Given the description of an element on the screen output the (x, y) to click on. 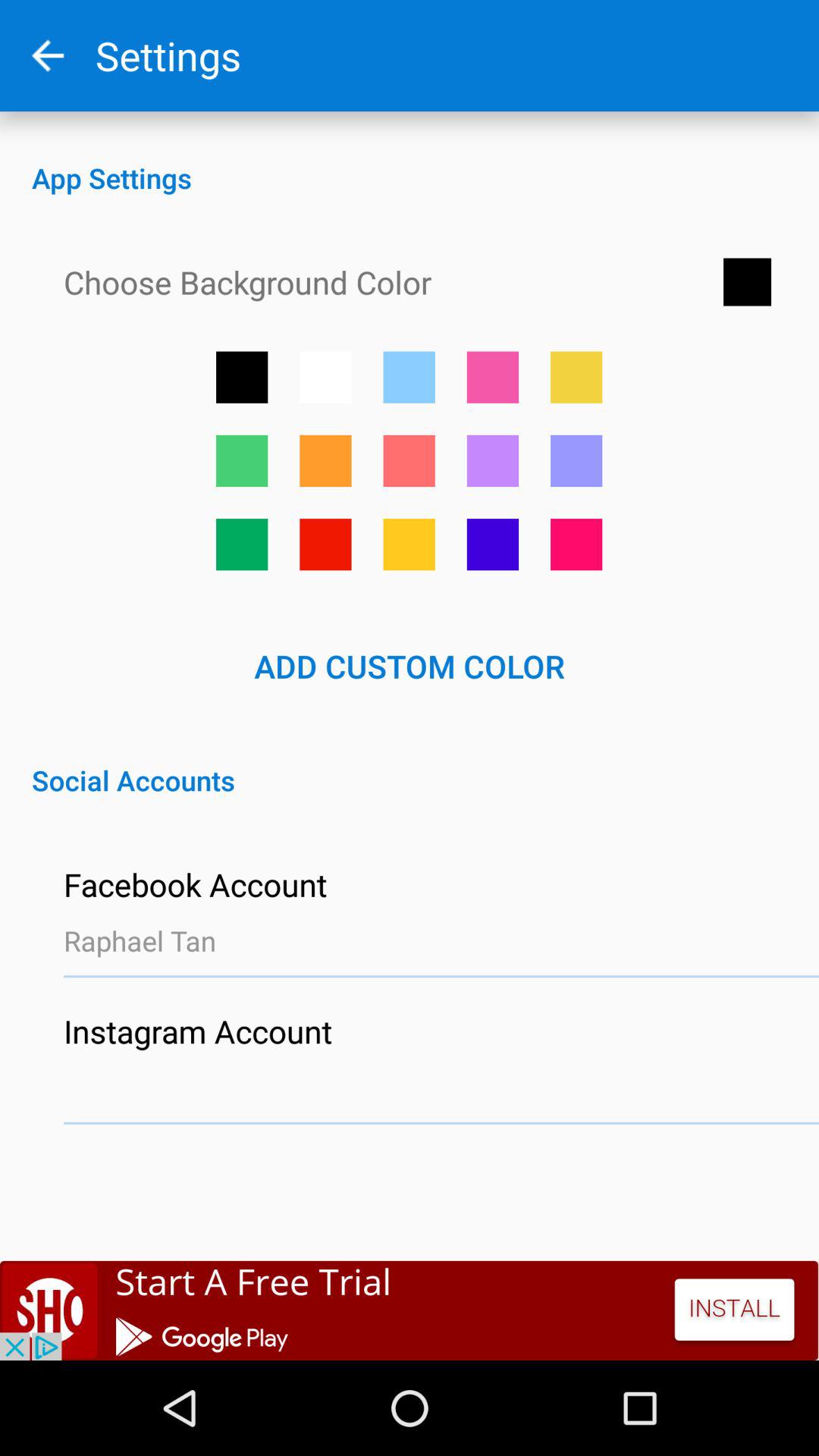
set background color to dark pink (576, 544)
